Given the description of an element on the screen output the (x, y) to click on. 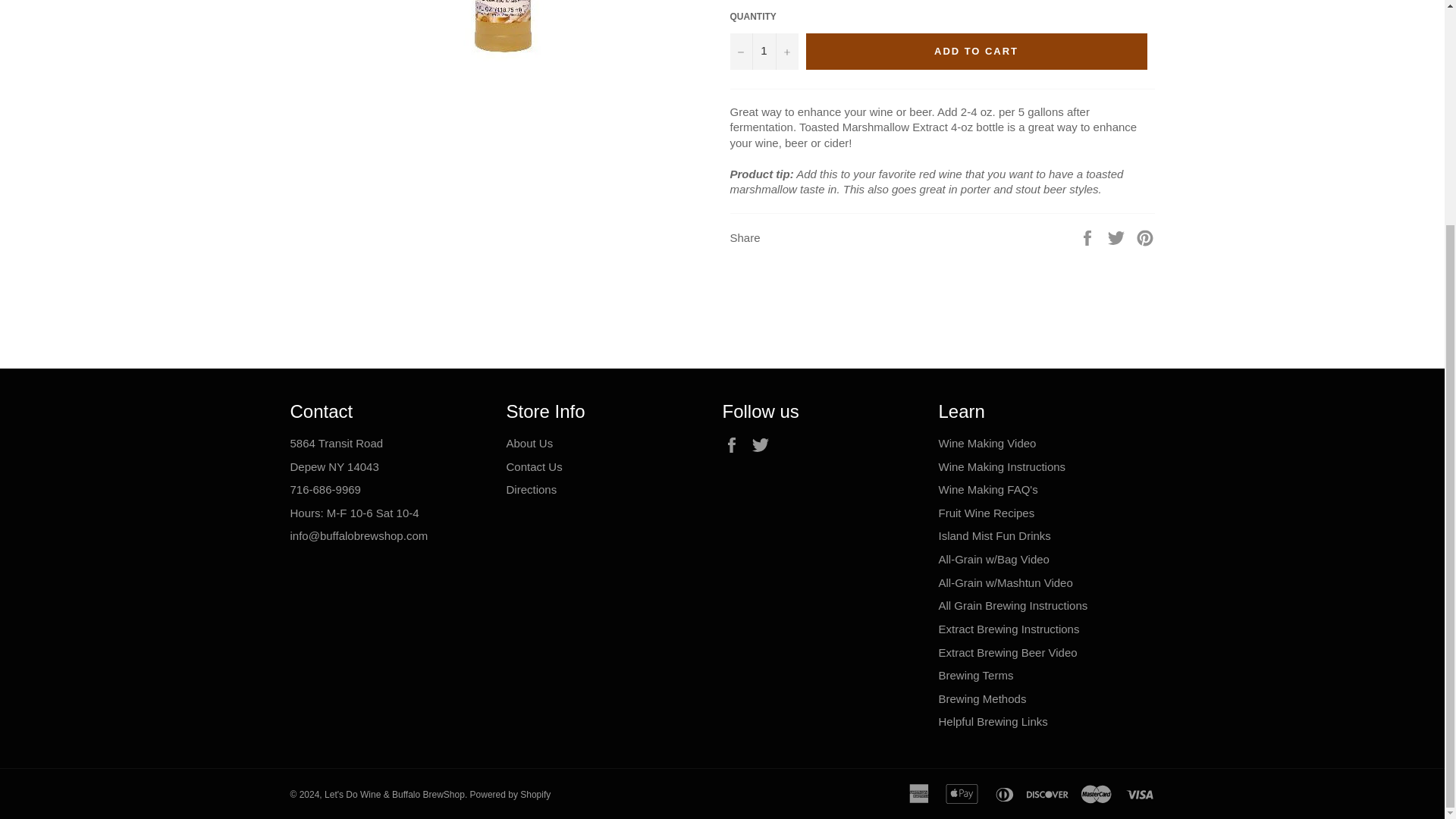
Share on Facebook (1088, 236)
1 (763, 51)
Tweet on Twitter (1117, 236)
Pin on Pinterest (1144, 236)
